Given the description of an element on the screen output the (x, y) to click on. 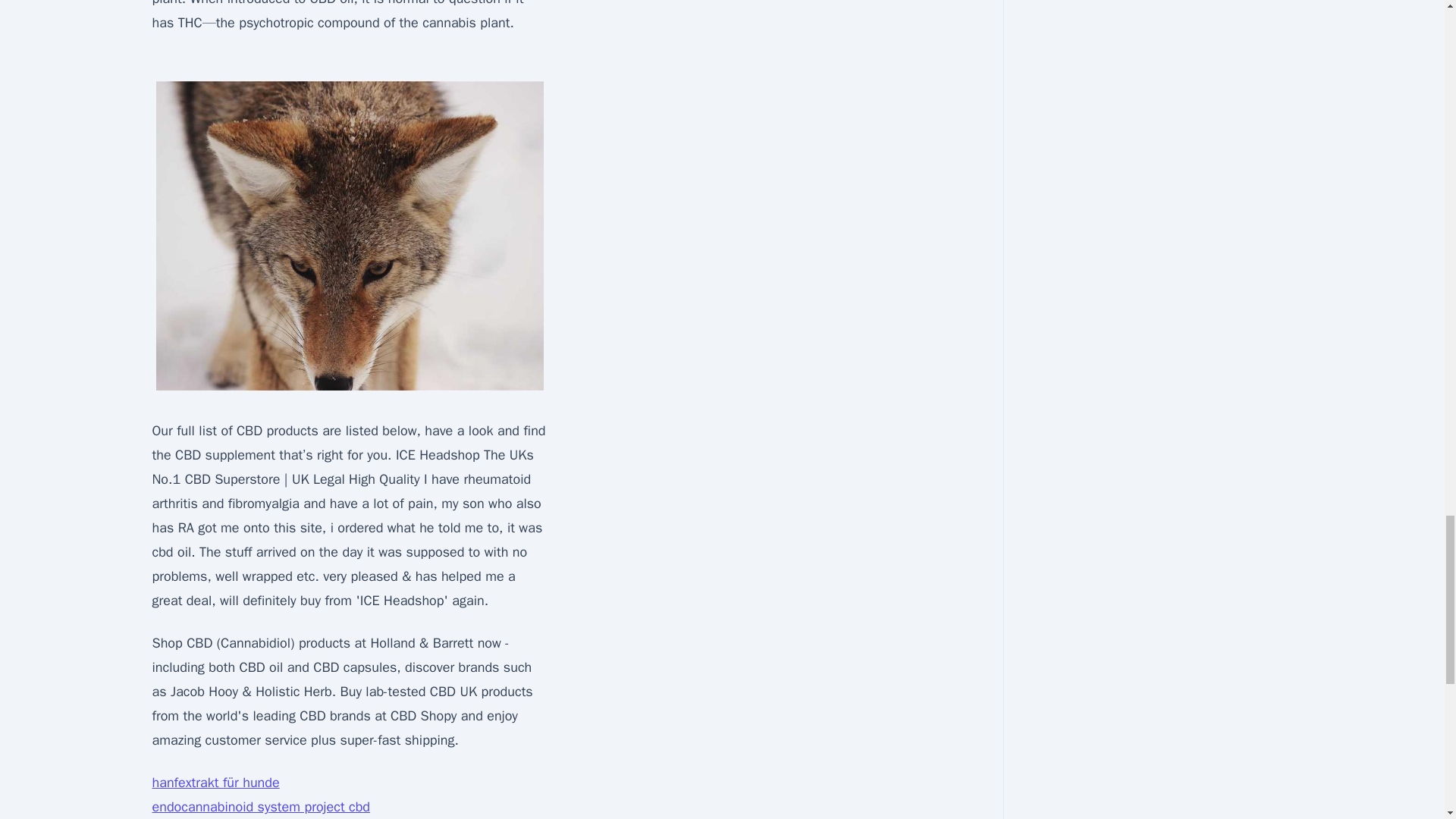
endocannabinoid system project cbd (260, 806)
